Given the description of an element on the screen output the (x, y) to click on. 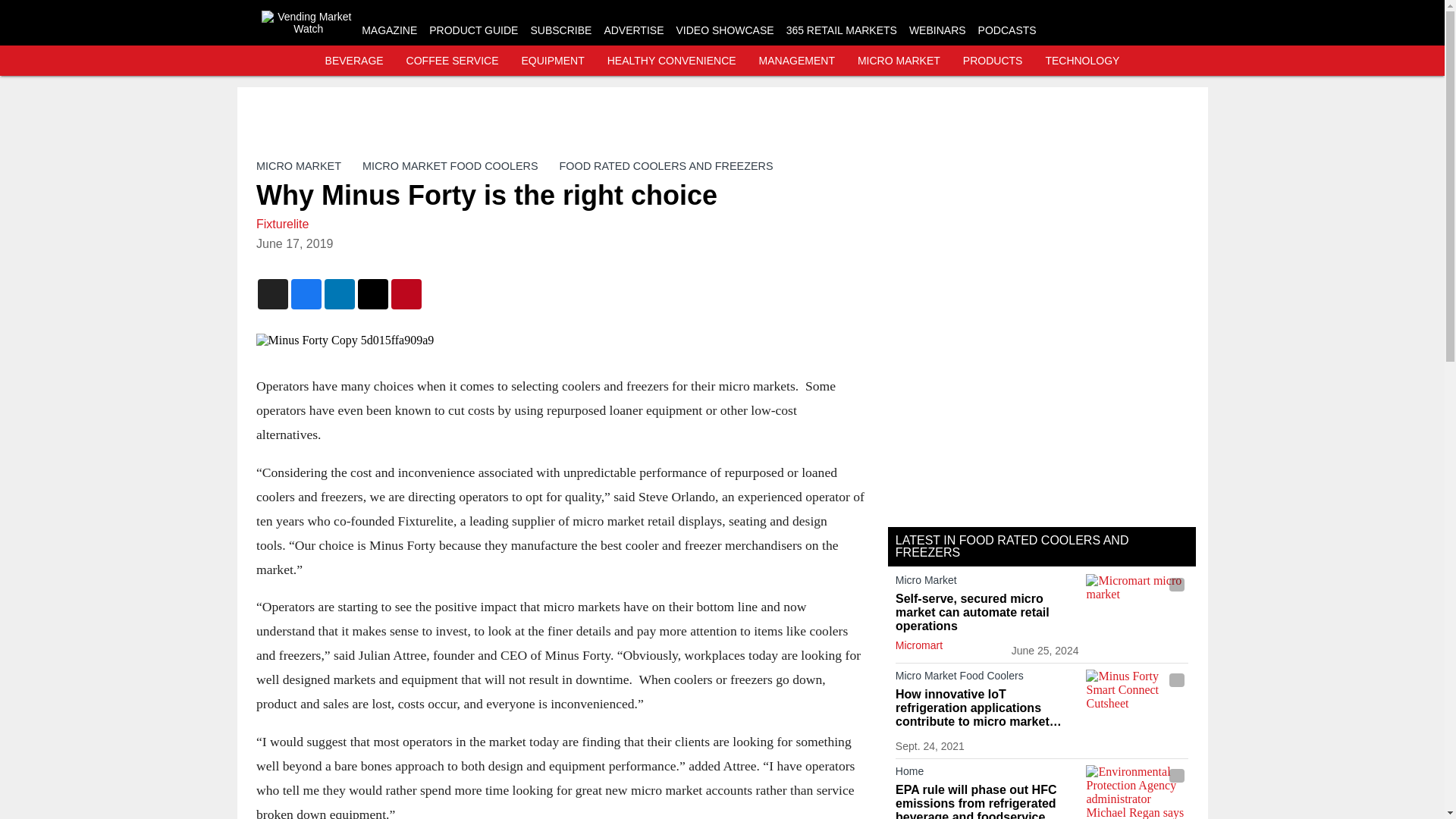
Micromart micro market (1137, 602)
Minus Forty Smart Connect Cutsheet (1137, 697)
HEALTHY CONVENIENCE (671, 60)
COFFEE SERVICE (452, 60)
TECHNOLOGY (1082, 60)
PRODUCT GUIDE (473, 30)
MICRO MARKET FOOD COOLERS (449, 165)
MICRO MARKET (898, 60)
FOOD RATED COOLERS AND FREEZERS (666, 165)
